Given the description of an element on the screen output the (x, y) to click on. 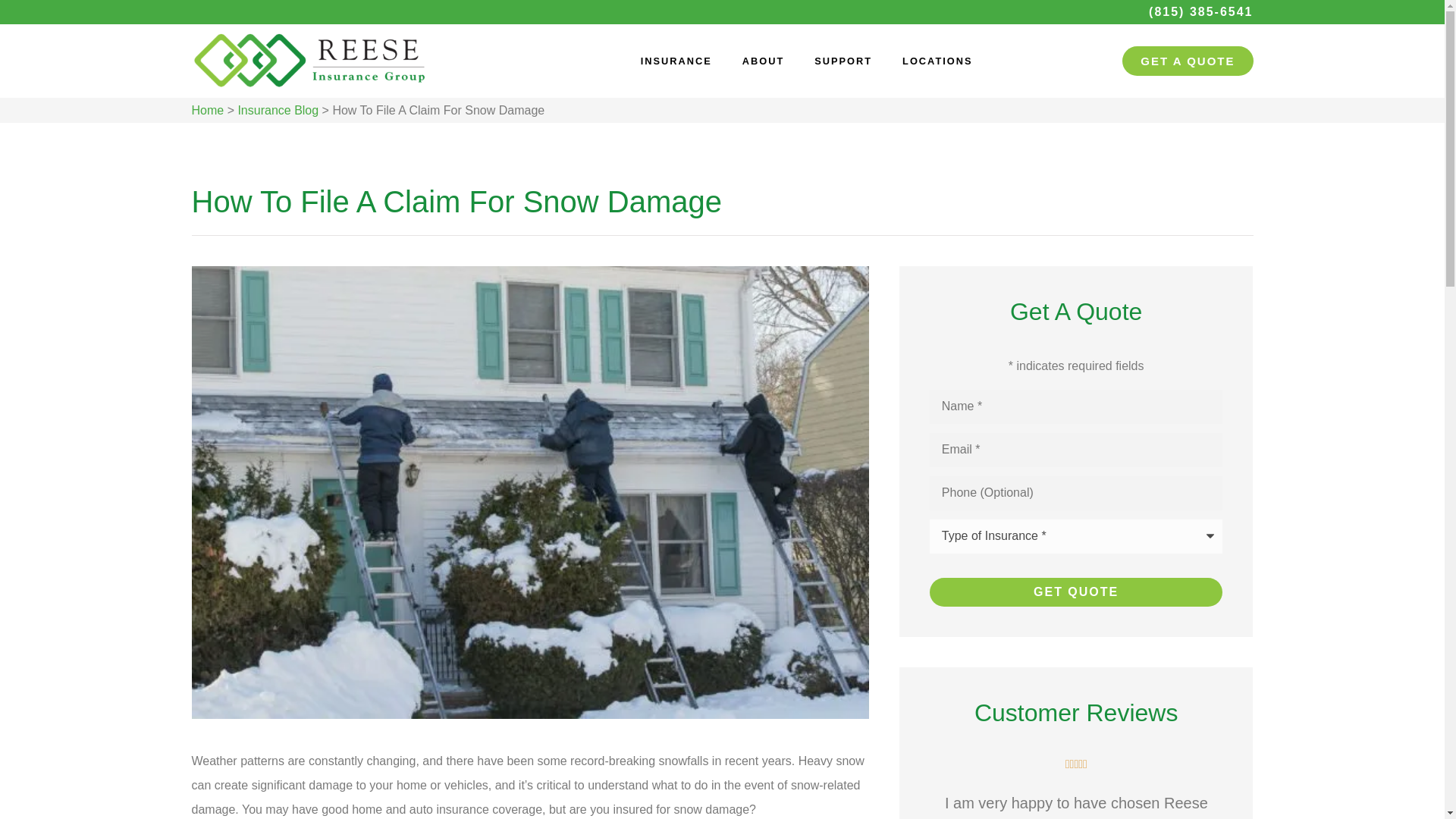
INSURANCE (676, 61)
ABOUT (762, 61)
Get Quote (1076, 592)
SUPPORT (842, 61)
